Given the description of an element on the screen output the (x, y) to click on. 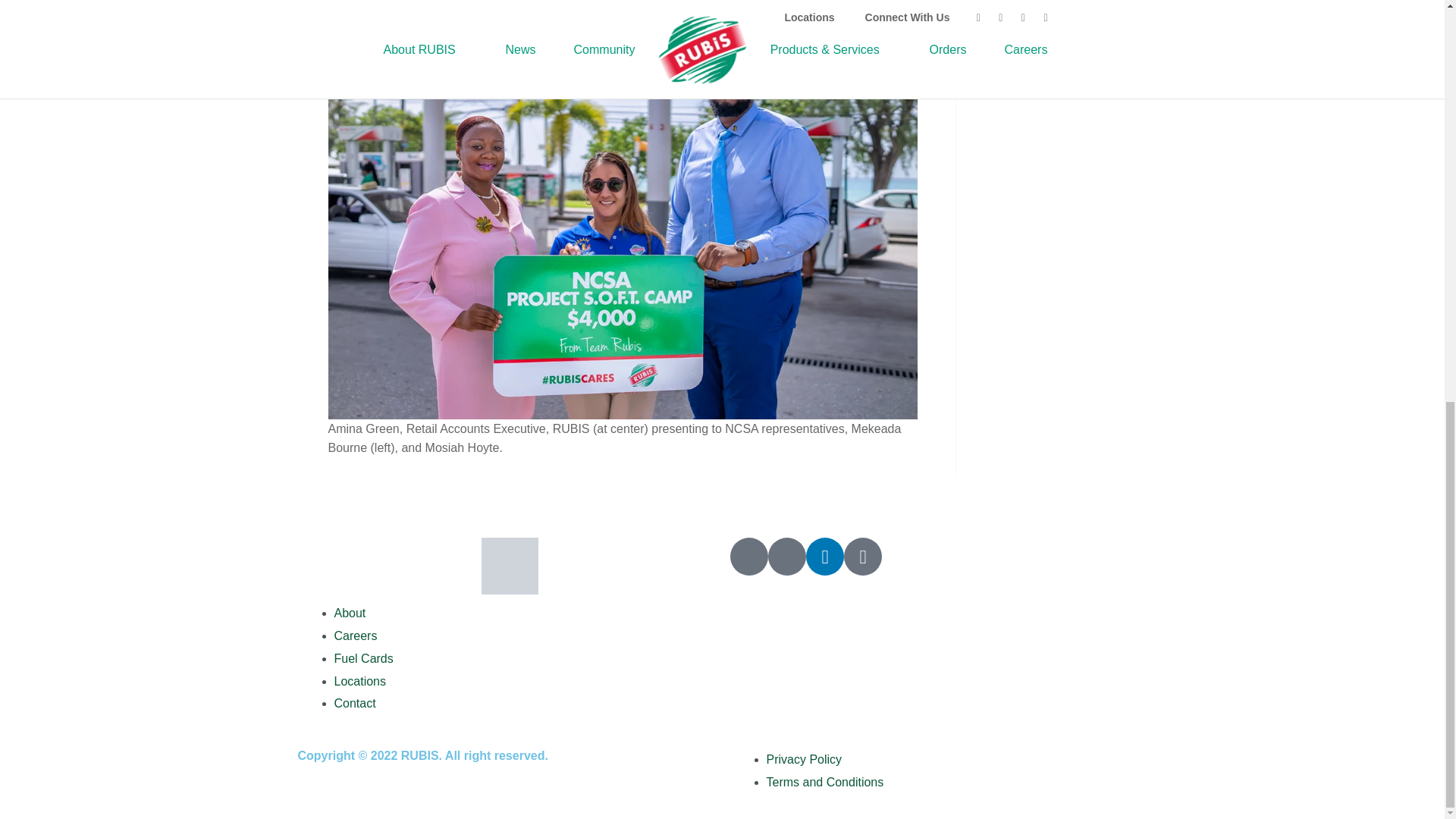
RUBIS LOGO-WHITE-02 (509, 565)
